Given the description of an element on the screen output the (x, y) to click on. 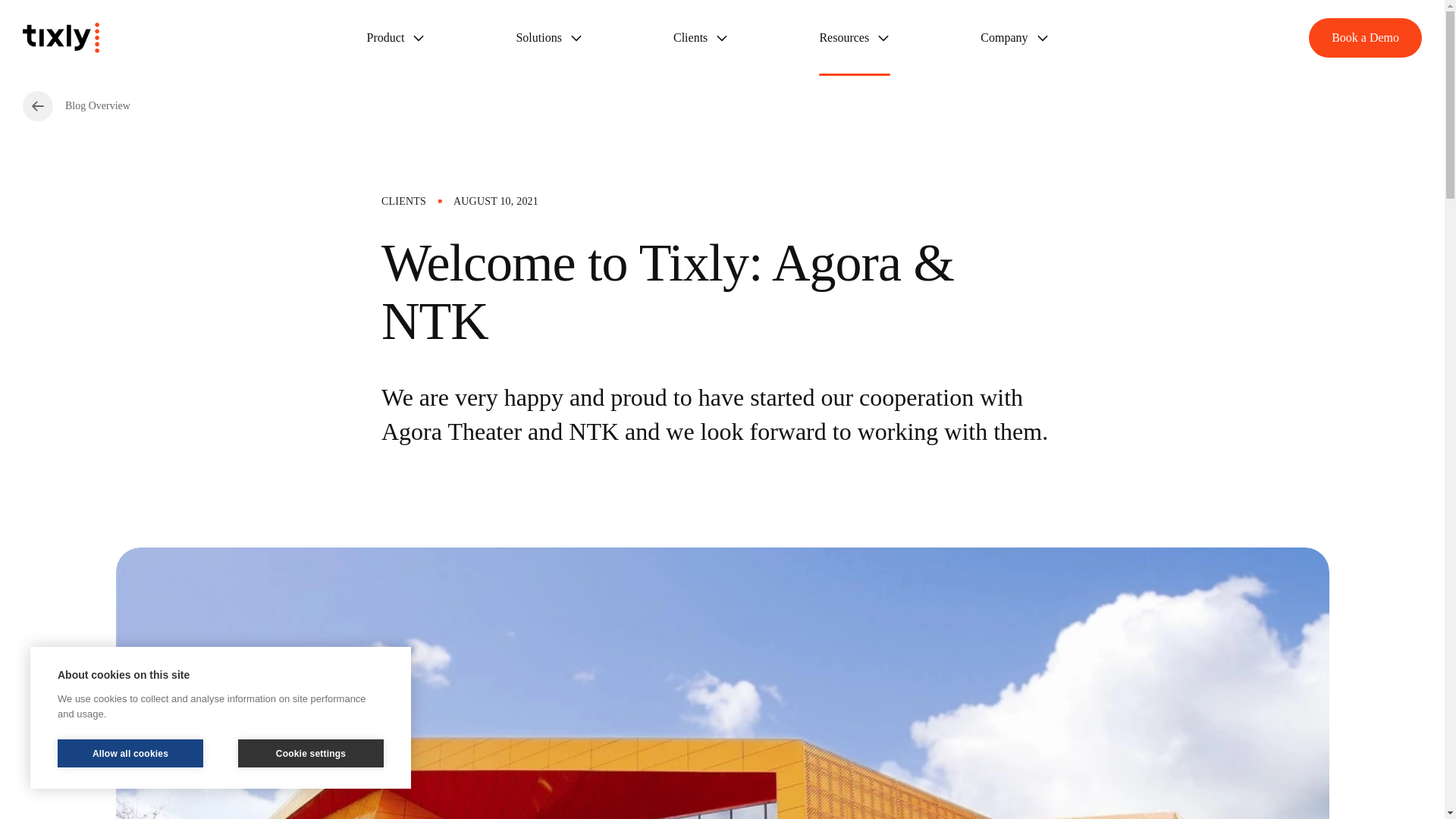
Resources (853, 38)
Book a Demo (1365, 37)
Company (1013, 38)
Blog Overview (77, 105)
